Given the description of an element on the screen output the (x, y) to click on. 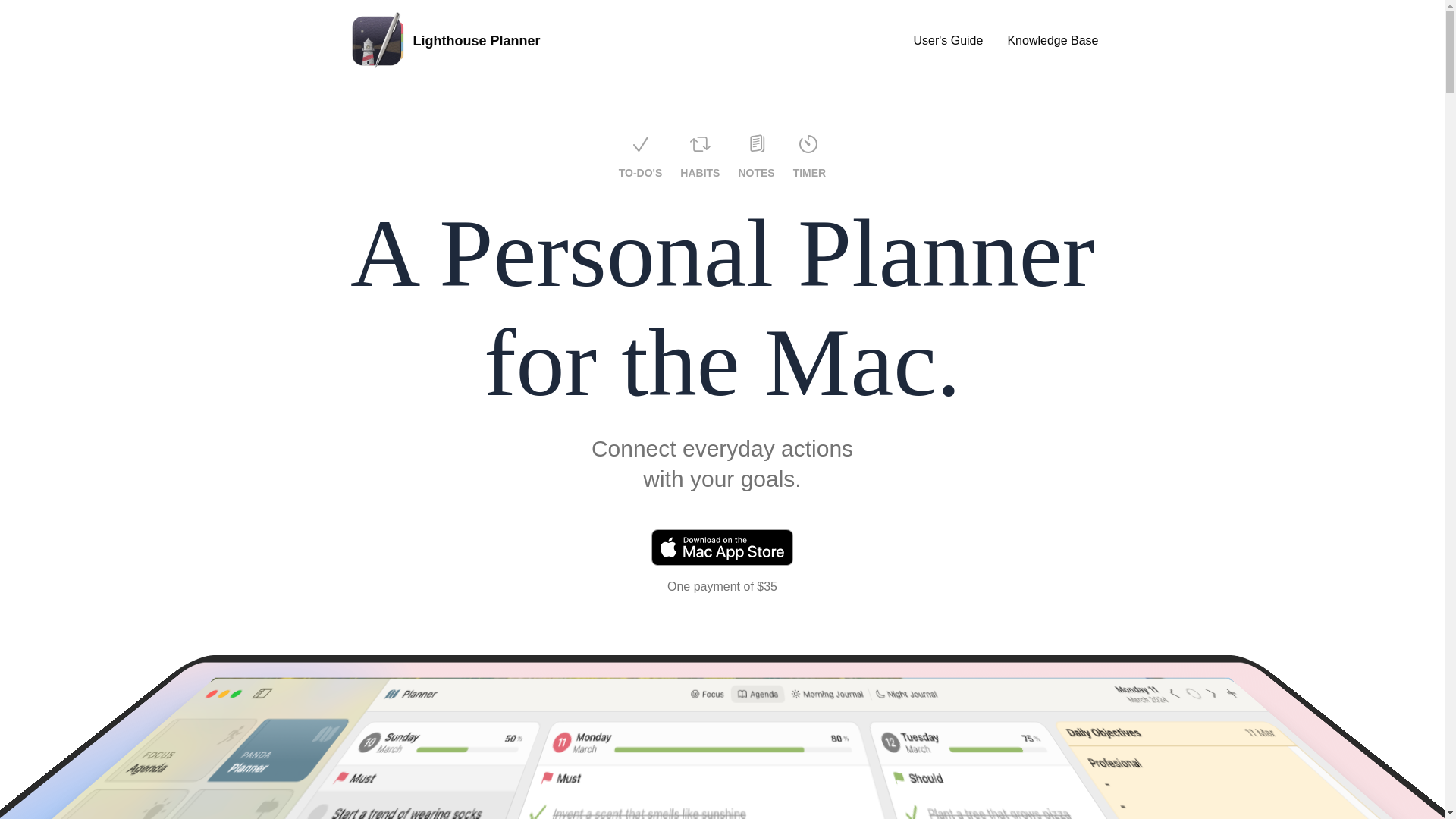
Lighthouse Planner (443, 40)
User's Guide (947, 40)
Knowledge Base (1052, 40)
